Given the description of an element on the screen output the (x, y) to click on. 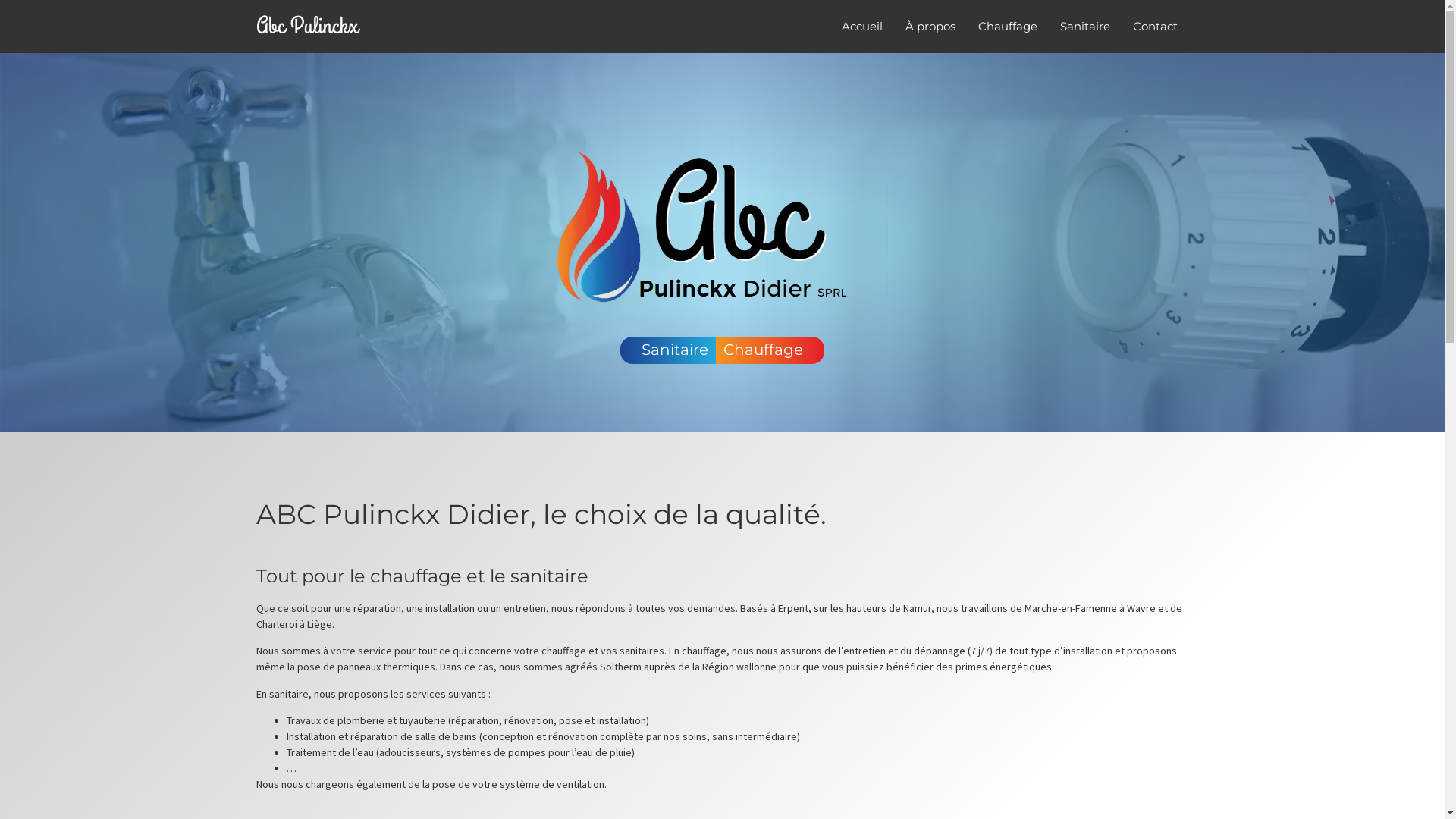
Sanitaire Element type: text (1084, 26)
Accueil Element type: text (861, 26)
Contact Element type: text (1154, 26)
Chauffage Element type: text (1007, 26)
